Given the description of an element on the screen output the (x, y) to click on. 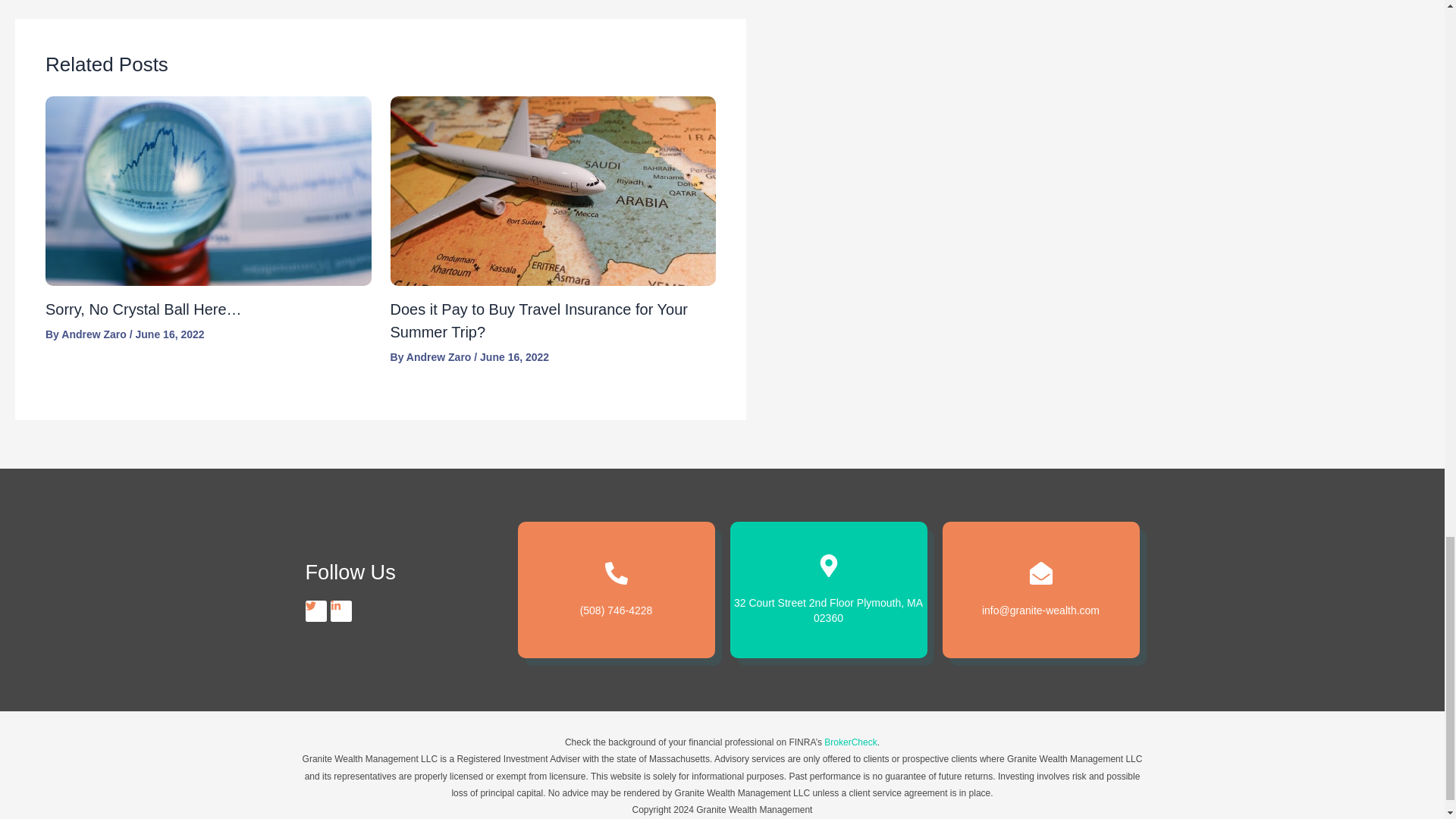
BrokerCheck (850, 742)
Andrew Zaro (440, 357)
Andrew Zaro (95, 334)
View all posts by Andrew Zaro (95, 334)
View all posts by Andrew Zaro (440, 357)
Twitter (315, 610)
Linkedin-in (341, 610)
Does it Pay to Buy Travel Insurance for Your Summer Trip? (538, 320)
